Given the description of an element on the screen output the (x, y) to click on. 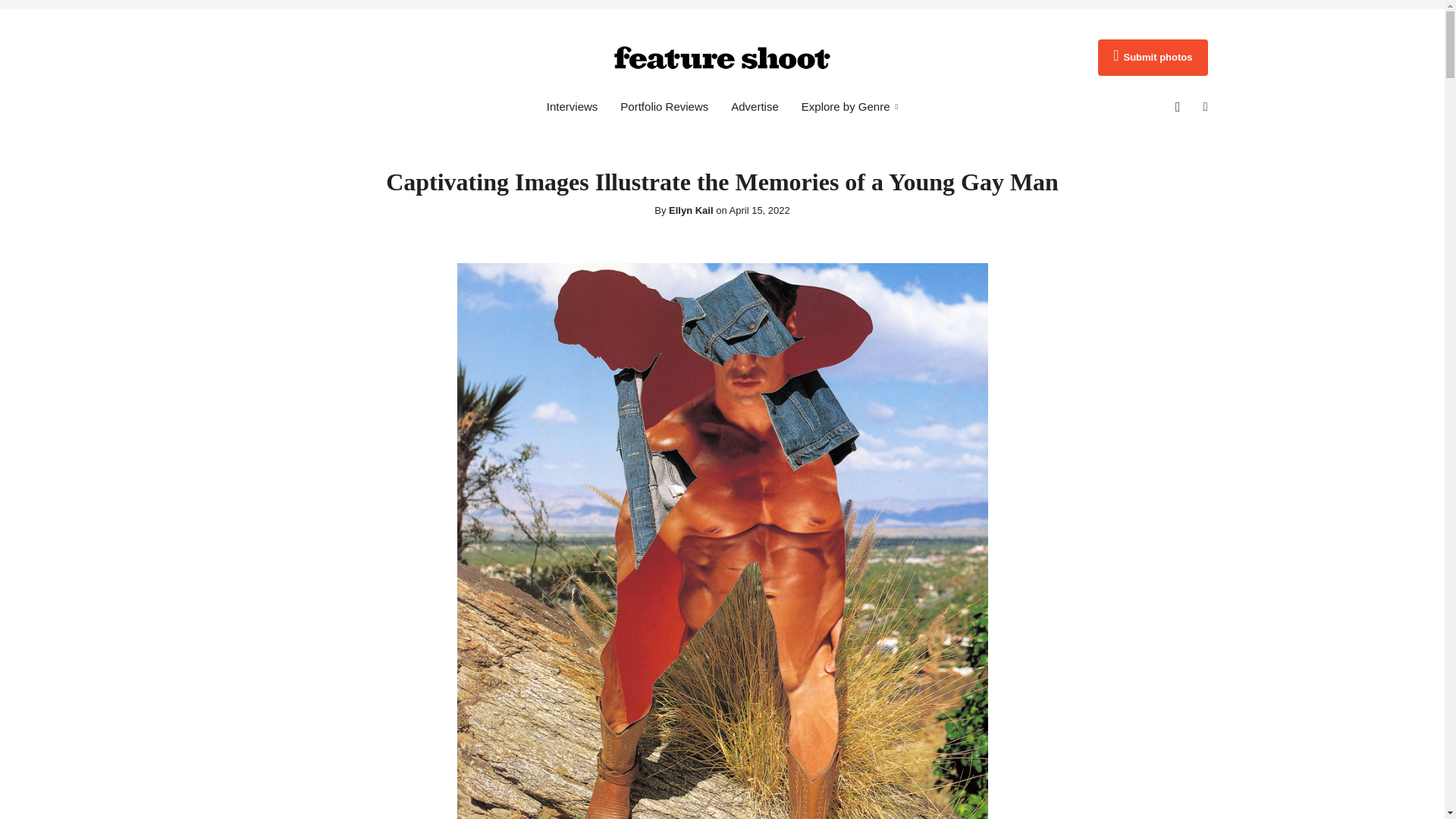
Advertise (754, 106)
Interviews (572, 106)
Explore by Genre (850, 106)
Portfolio Reviews (663, 106)
Ellyn Kail (690, 210)
Posts by Ellyn Kail (690, 210)
Submit photos (1152, 57)
